Given the description of an element on the screen output the (x, y) to click on. 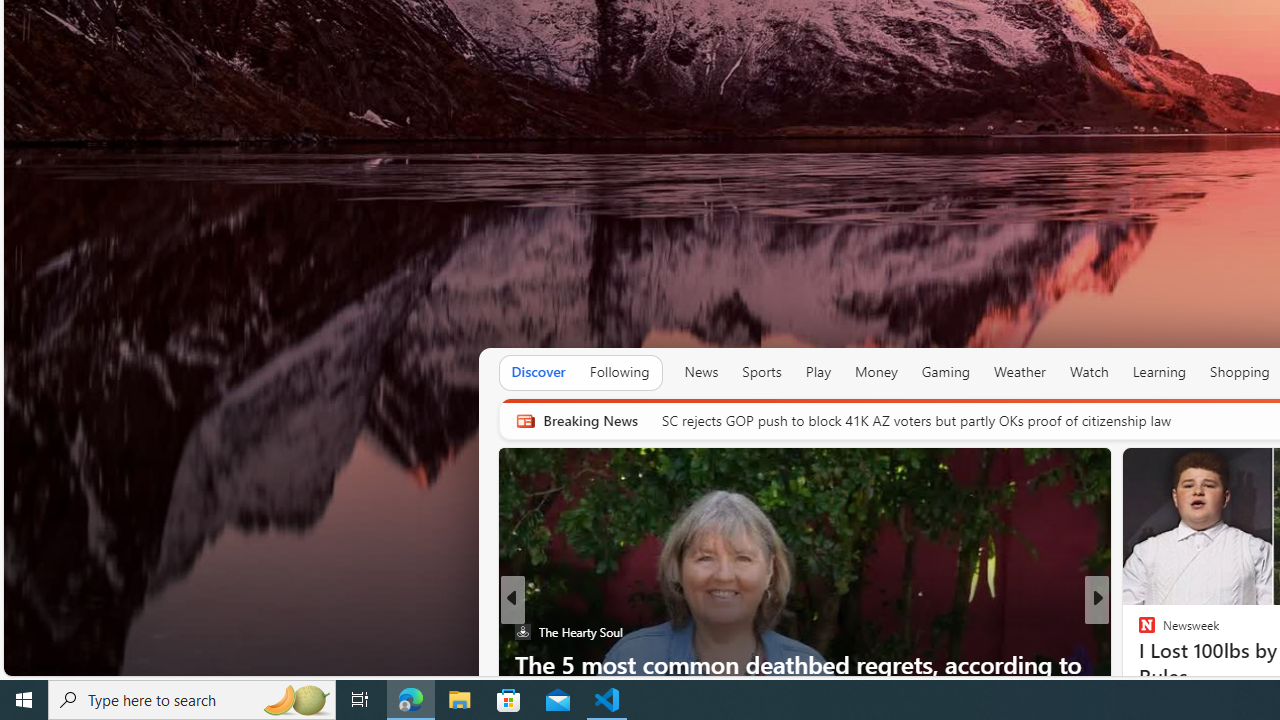
Newsweek (1138, 632)
INSIDER (1138, 632)
Moneywise (1138, 632)
